Given the description of an element on the screen output the (x, y) to click on. 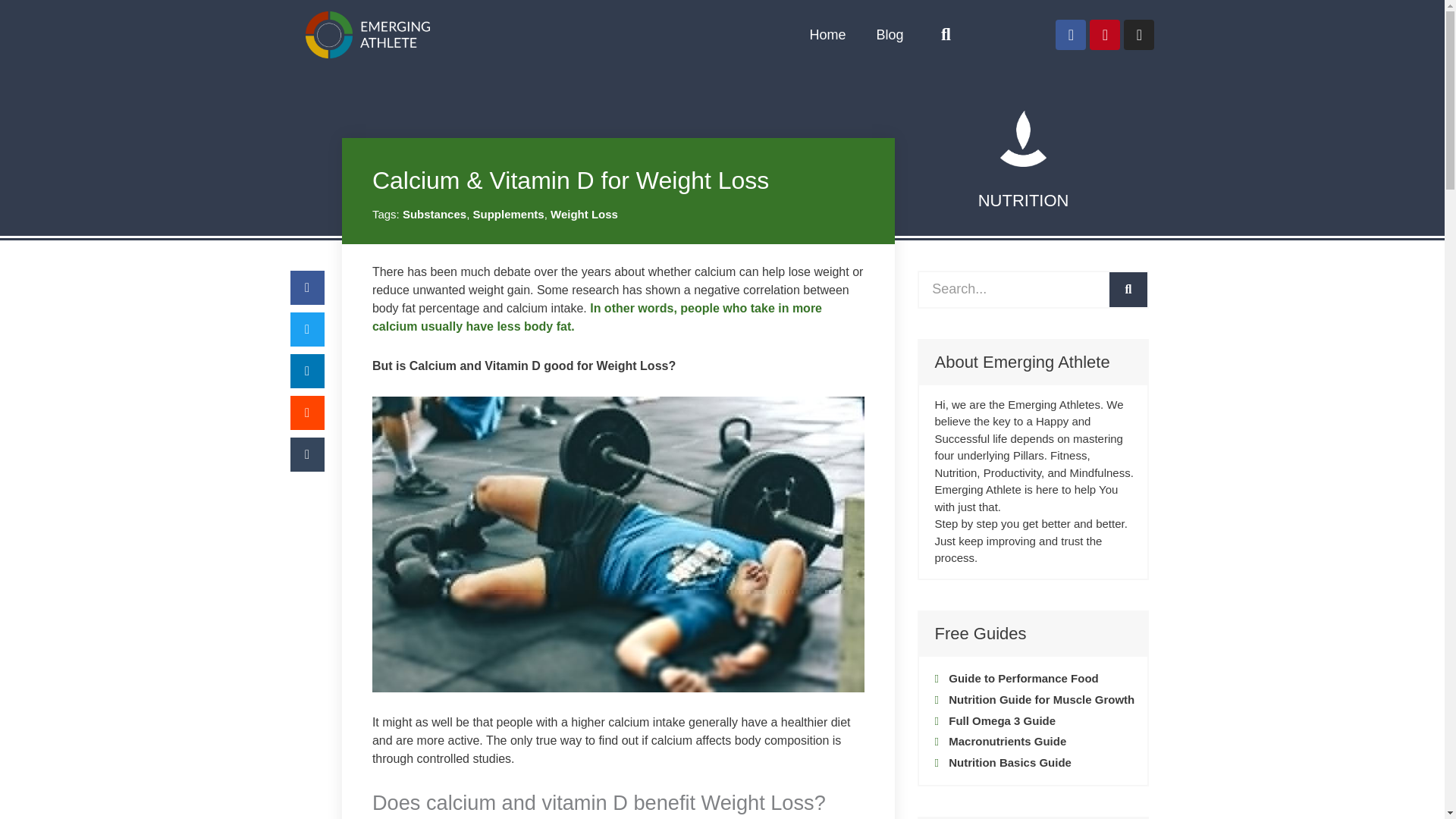
Blog (889, 34)
Substances (434, 214)
Home (826, 34)
Weight Loss (583, 214)
Nutrition Guide for Muscle Growth (1034, 699)
Supplements (507, 214)
Search (1013, 289)
Macronutrients Guide (1034, 741)
Search (1128, 289)
